Given the description of an element on the screen output the (x, y) to click on. 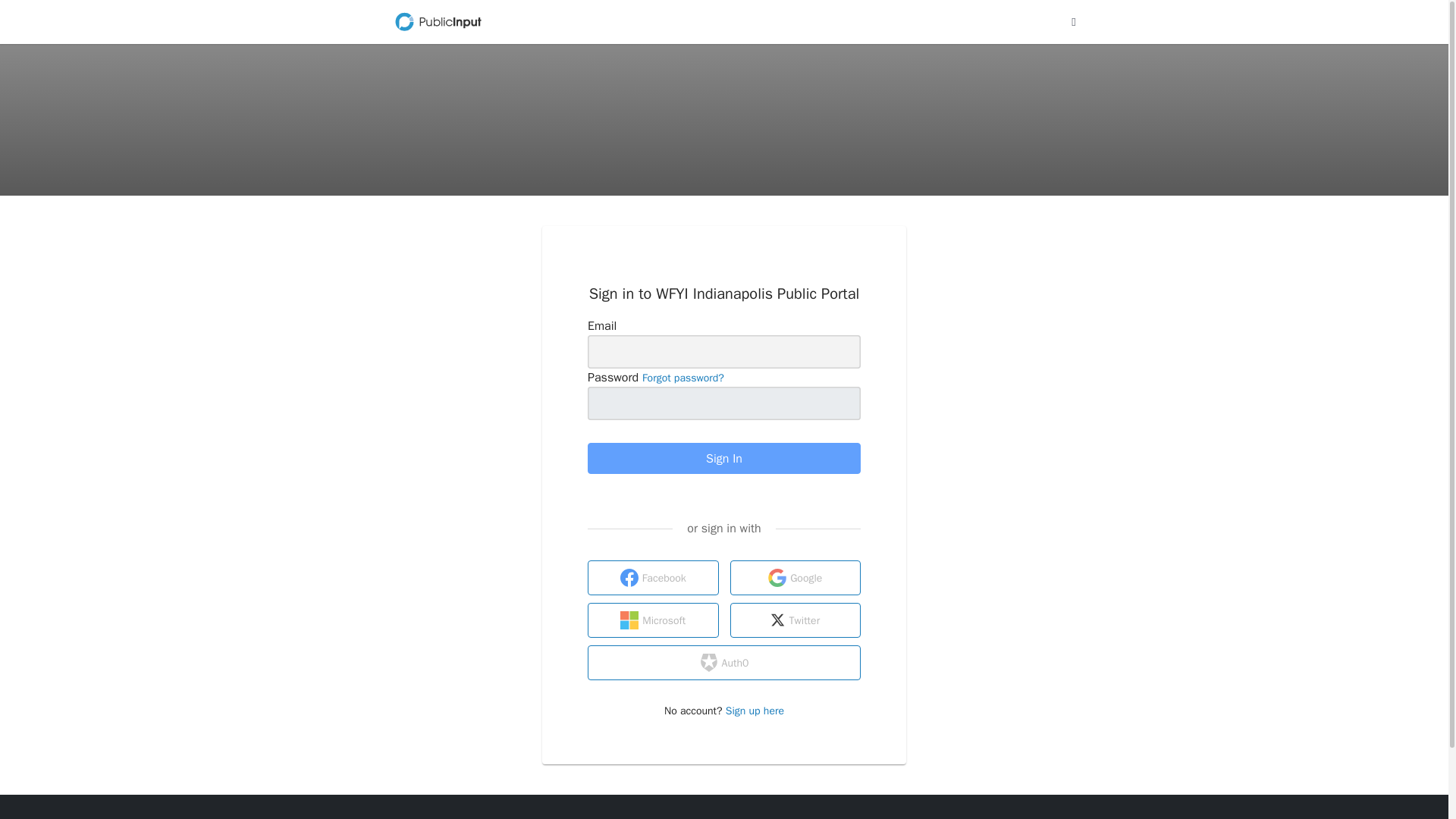
Microsoft (653, 620)
Sign up here (754, 710)
Twitter (794, 620)
Forgot password? (682, 377)
Google (794, 577)
Auth0 (724, 662)
Facebook (653, 577)
Sign In (724, 458)
